Given the description of an element on the screen output the (x, y) to click on. 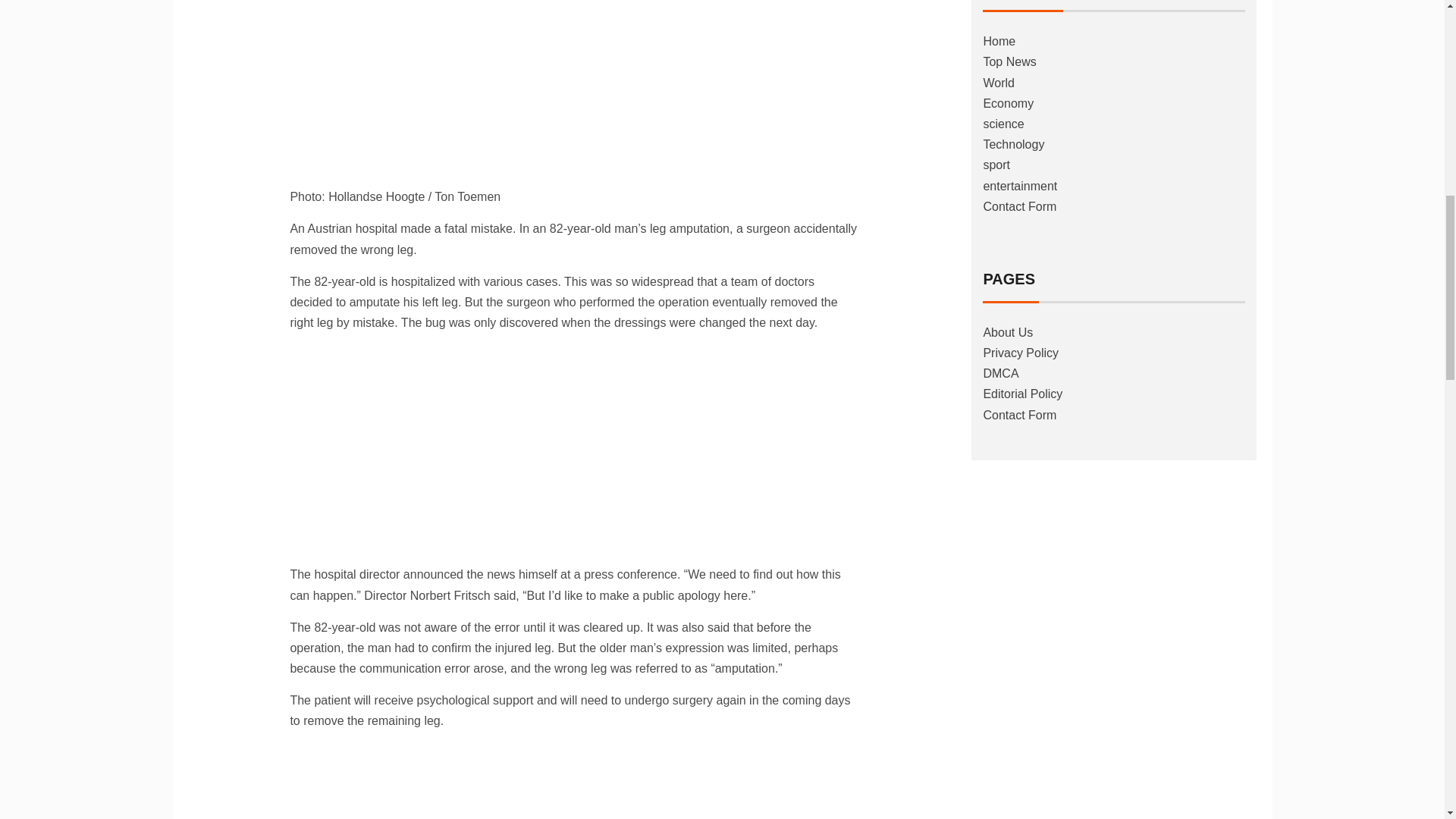
Advertisement (574, 89)
Advertisement (574, 780)
Advertisement (574, 449)
